Given the description of an element on the screen output the (x, y) to click on. 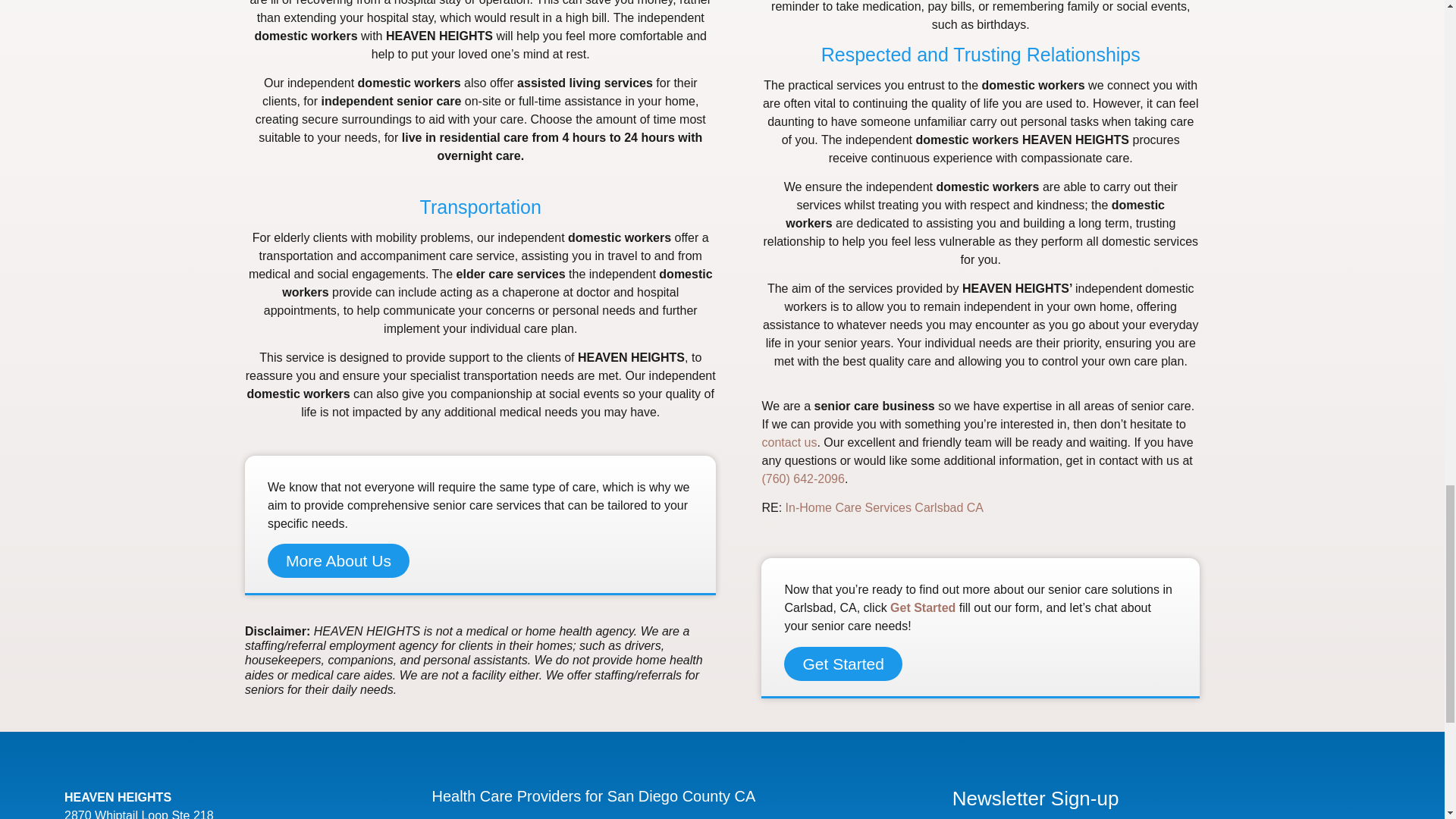
More About Us (338, 560)
Get Started (842, 663)
In-Home Care Services Carlsbad CA (885, 507)
In Home care Services Carlsbad CA (885, 507)
Get Started (922, 607)
contact us (788, 441)
